Given the description of an element on the screen output the (x, y) to click on. 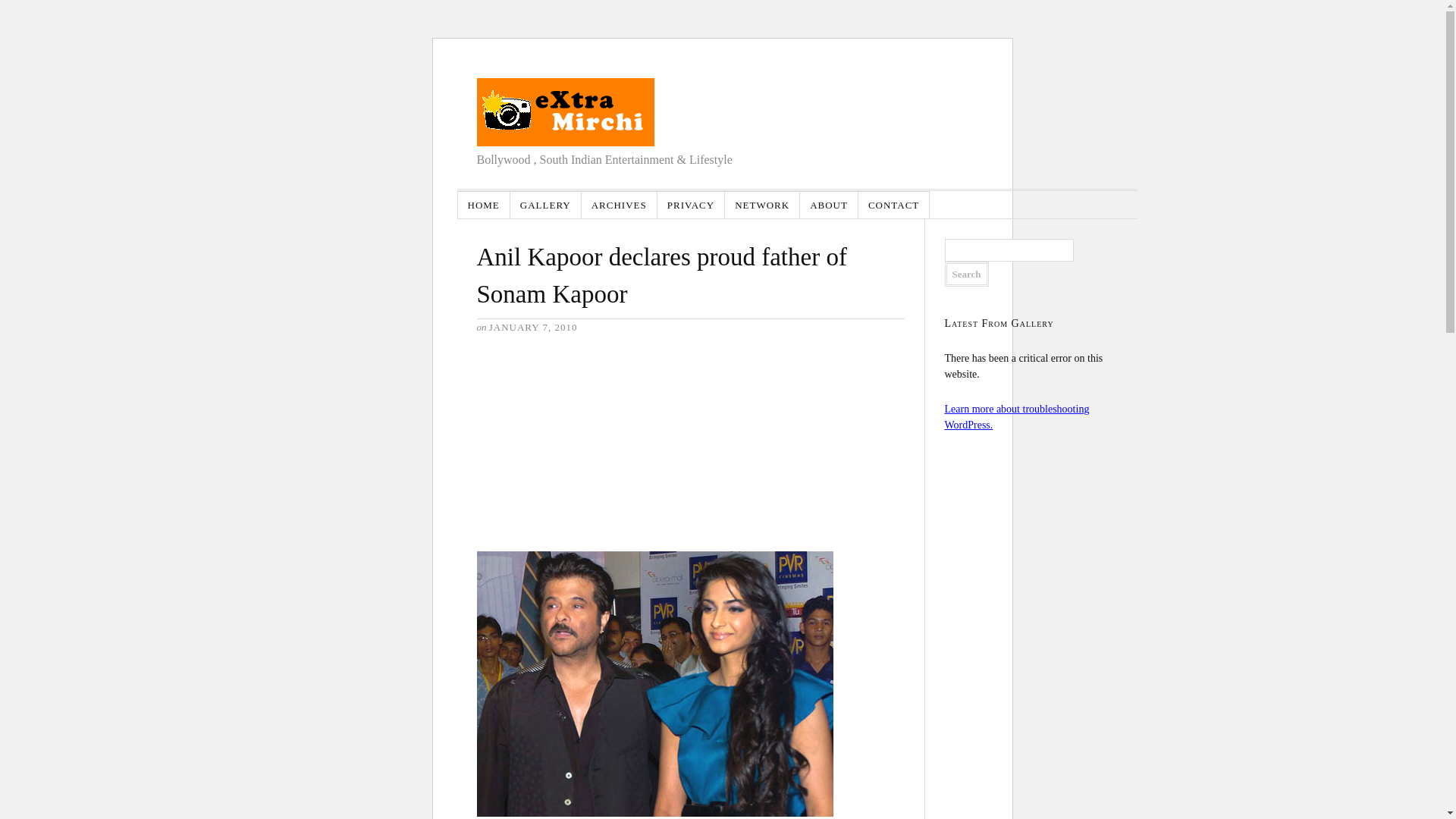
GALLERY (545, 204)
visit the home page (564, 111)
2010-01-07 (533, 326)
ARCHIVES (619, 204)
HOME (484, 204)
Advertisement (589, 450)
